Given the description of an element on the screen output the (x, y) to click on. 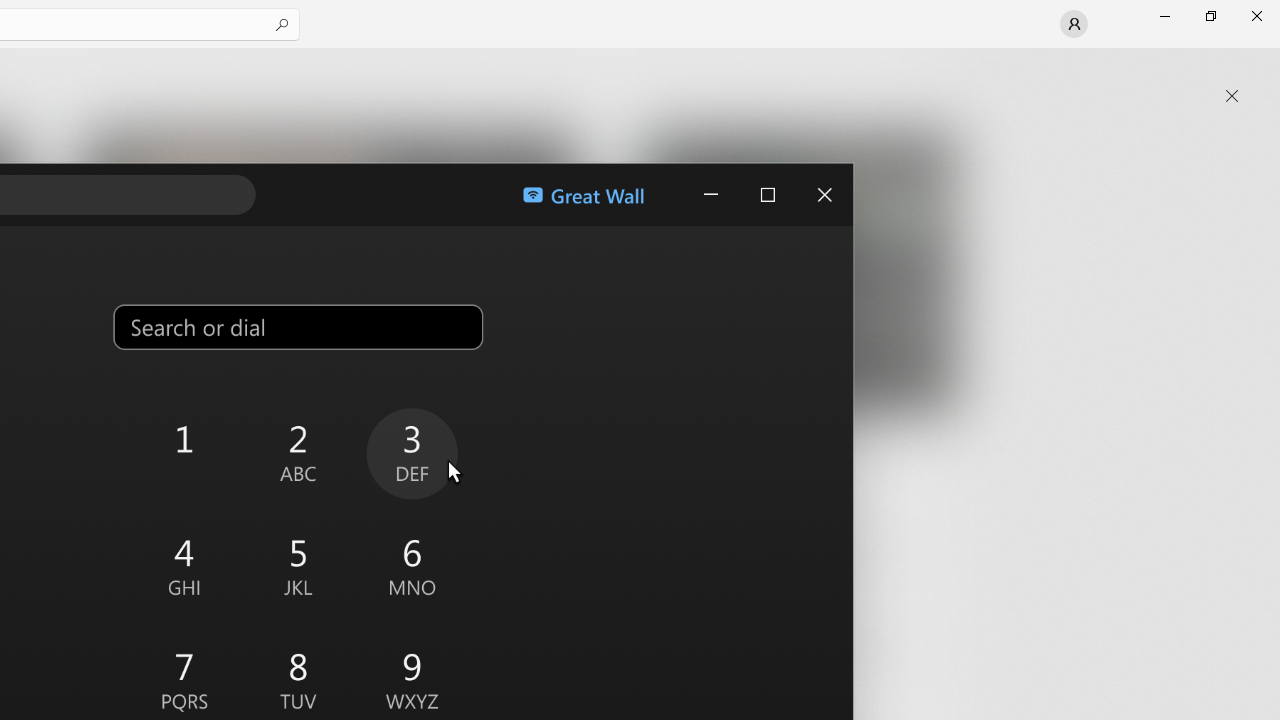
Screenshot 2 (330, 279)
Close Microsoft Store (1256, 15)
Screenshot 3 (788, 279)
Minimize Microsoft Store (1164, 15)
close popup window (1232, 95)
User profile (1073, 24)
See all (924, 72)
Restore Microsoft Store (1210, 15)
